Given the description of an element on the screen output the (x, y) to click on. 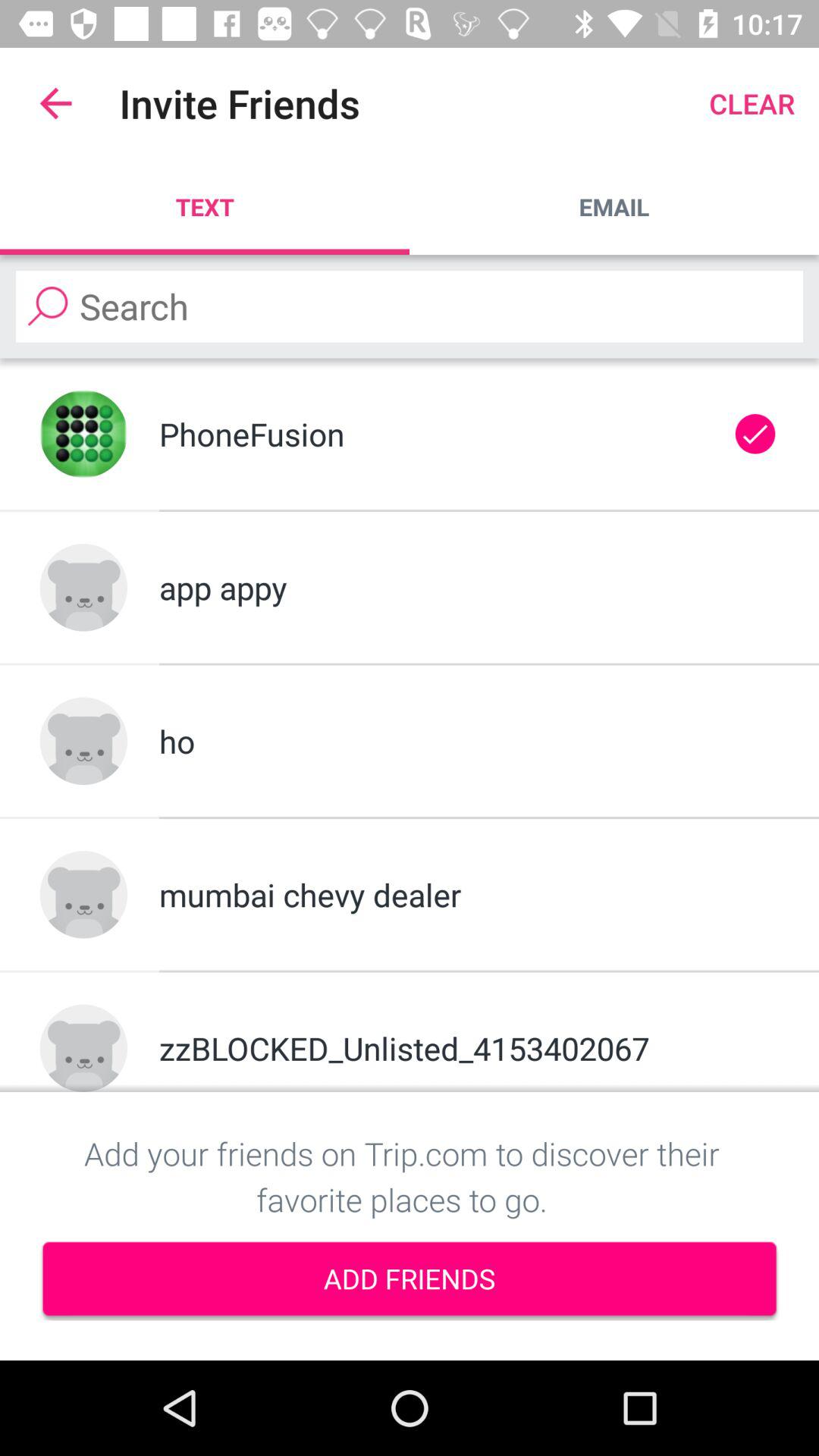
choose icon next to the email icon (204, 206)
